Given the description of an element on the screen output the (x, y) to click on. 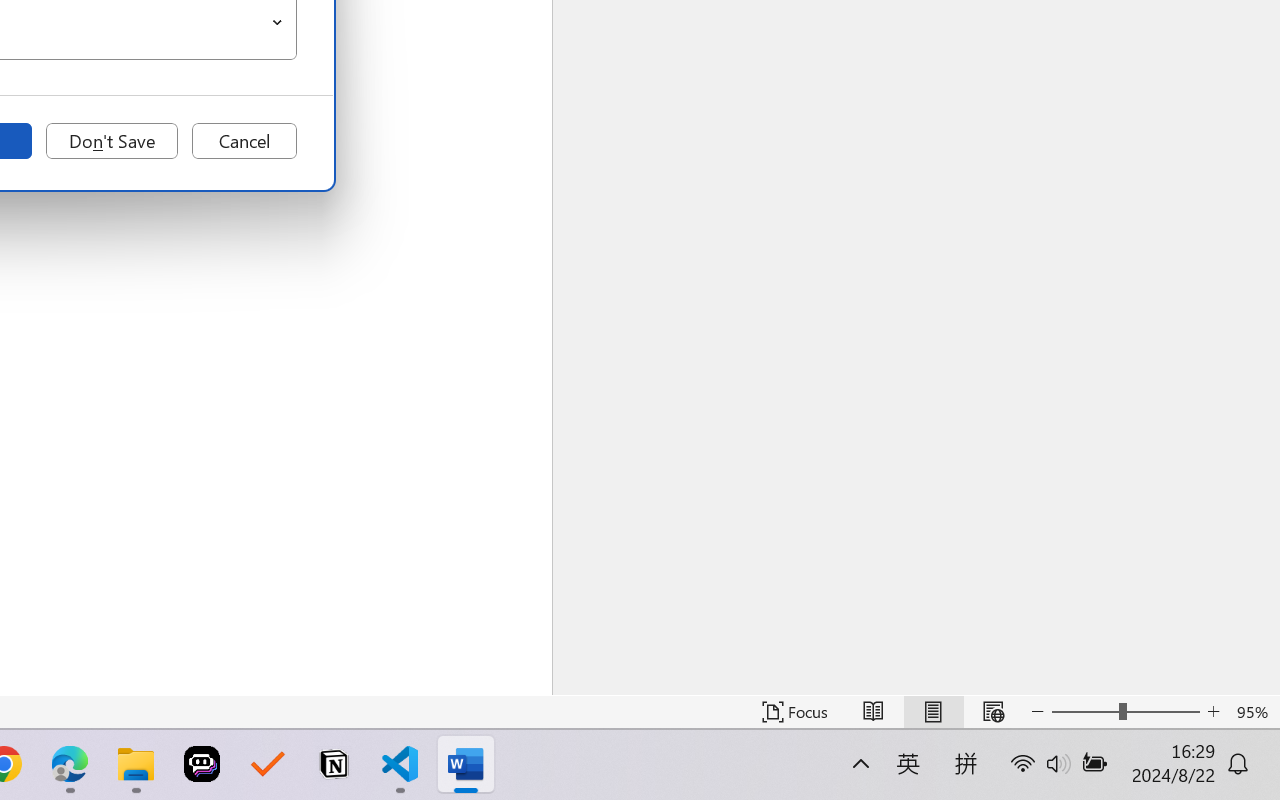
Poe (201, 764)
